Given the description of an element on the screen output the (x, y) to click on. 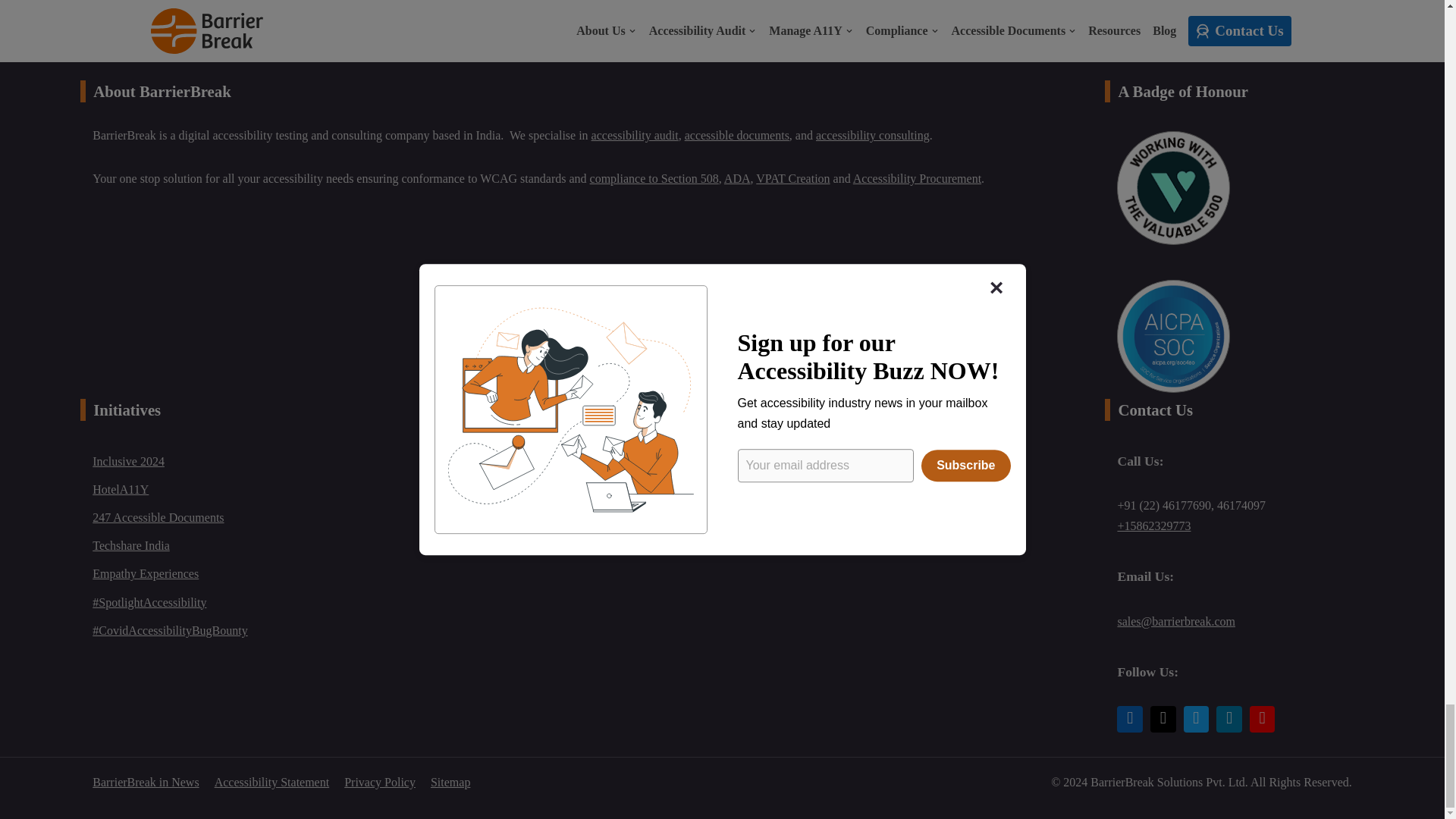
BarrierBreak on X (1163, 718)
BarrierBreak on Linkedin (1129, 718)
BarrierBreak on Slideshare (1228, 718)
BarrierBreak on Facebook (1196, 718)
BarrierBreak on Youtube (1262, 718)
